Given the description of an element on the screen output the (x, y) to click on. 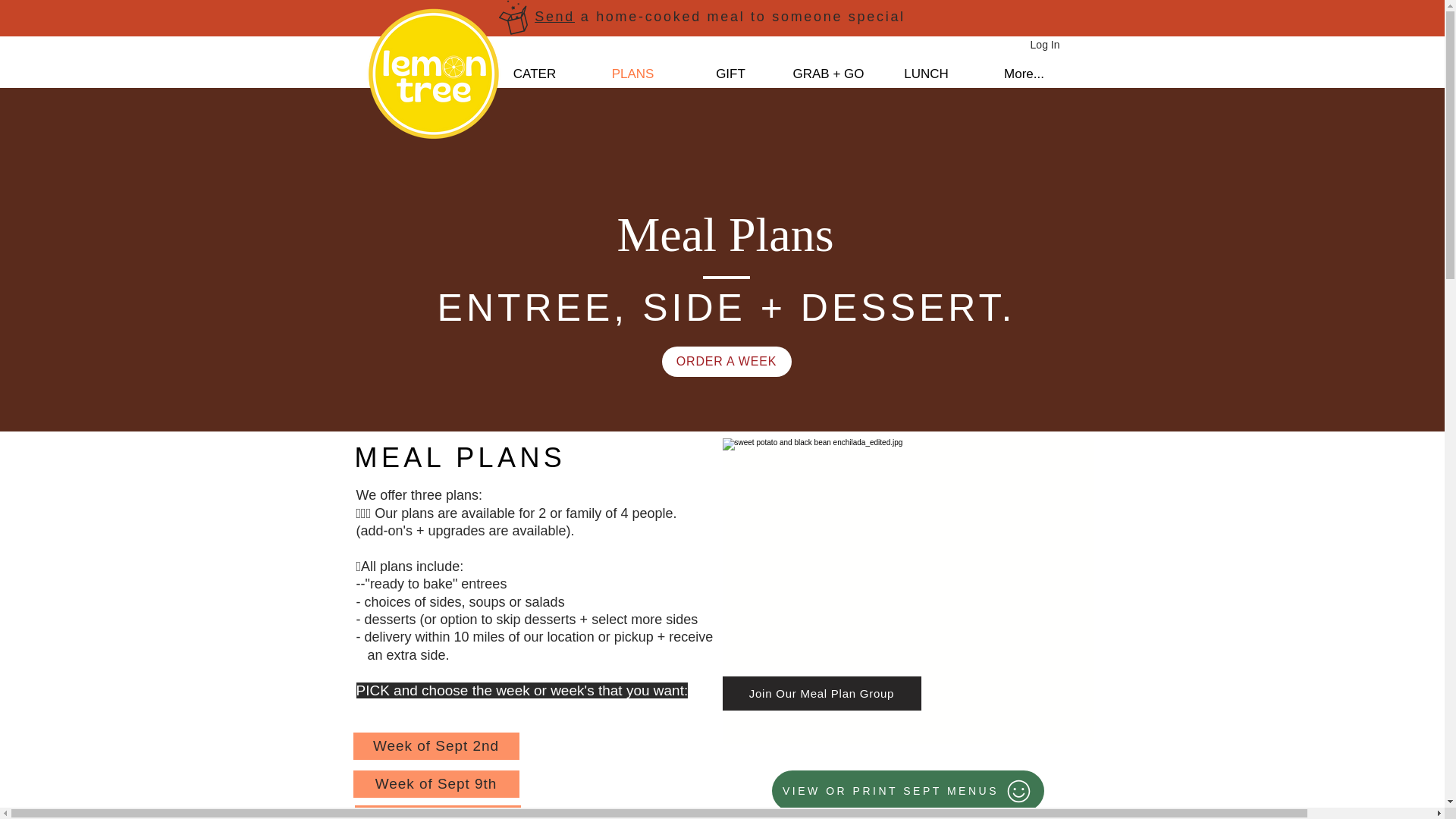
PLANS (632, 73)
GIFT (729, 73)
Log In (1045, 45)
Send (554, 16)
LUNCH (925, 73)
CATER (533, 73)
